Given the description of an element on the screen output the (x, y) to click on. 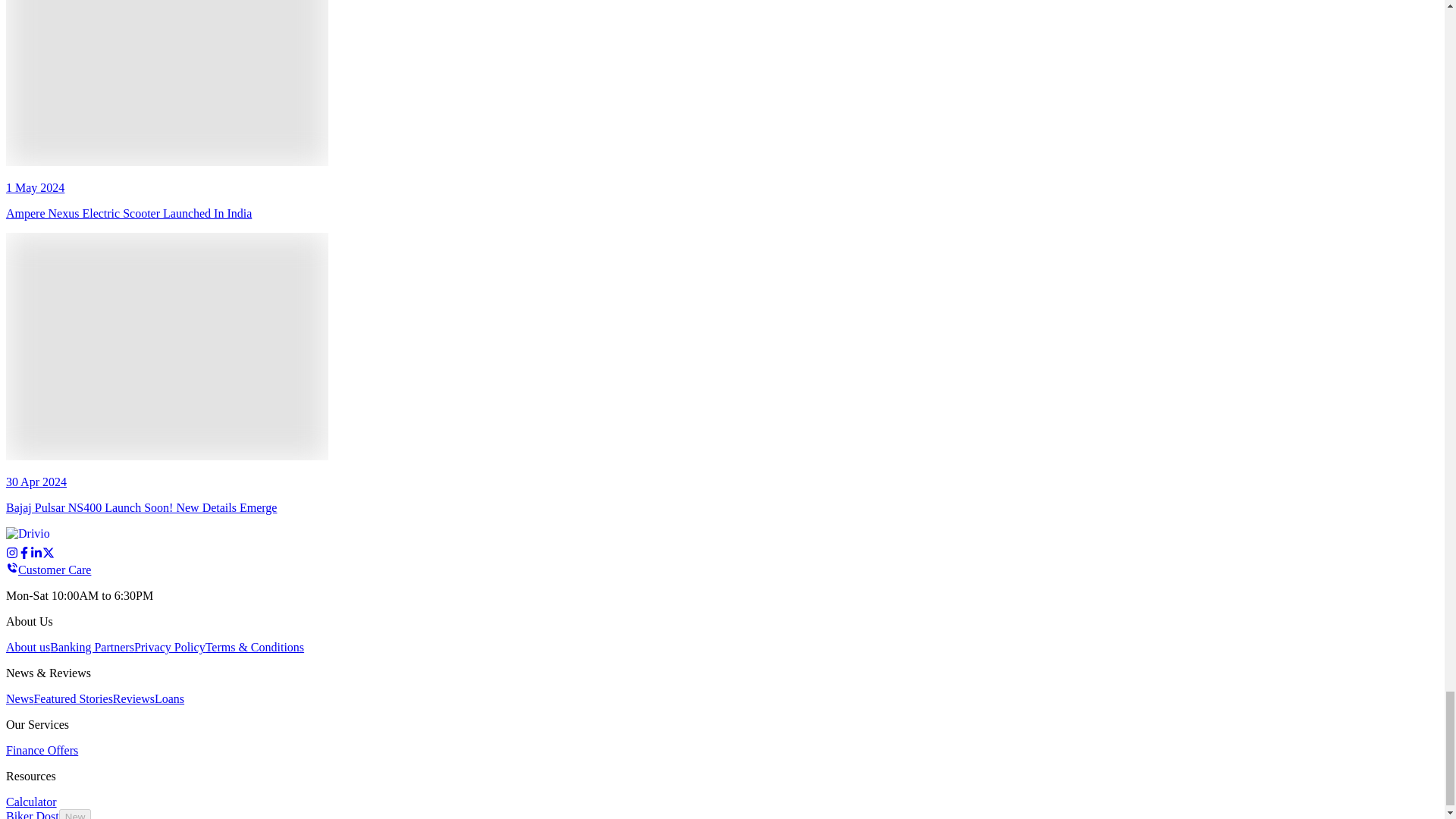
Drivio (46, 535)
Ampere Nexus Electric Scooter Launched In India (167, 83)
Bajaj Pulsar NS400 Launch Soon! New Details Emerge (167, 346)
